Given the description of an element on the screen output the (x, y) to click on. 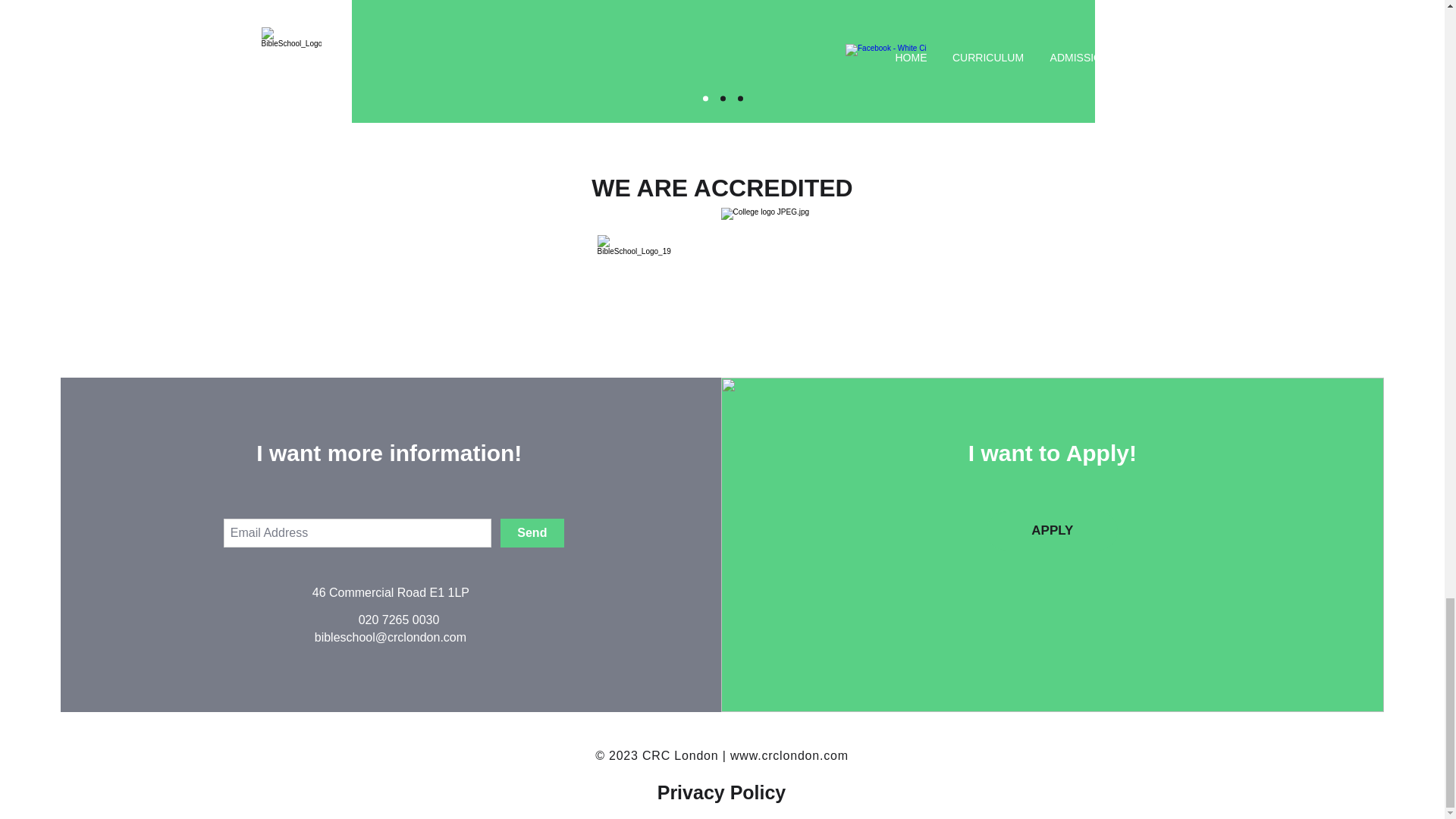
Send (532, 532)
Privacy Policy (722, 792)
APPLY (1052, 530)
www.crclondon.com (789, 755)
